Given the description of an element on the screen output the (x, y) to click on. 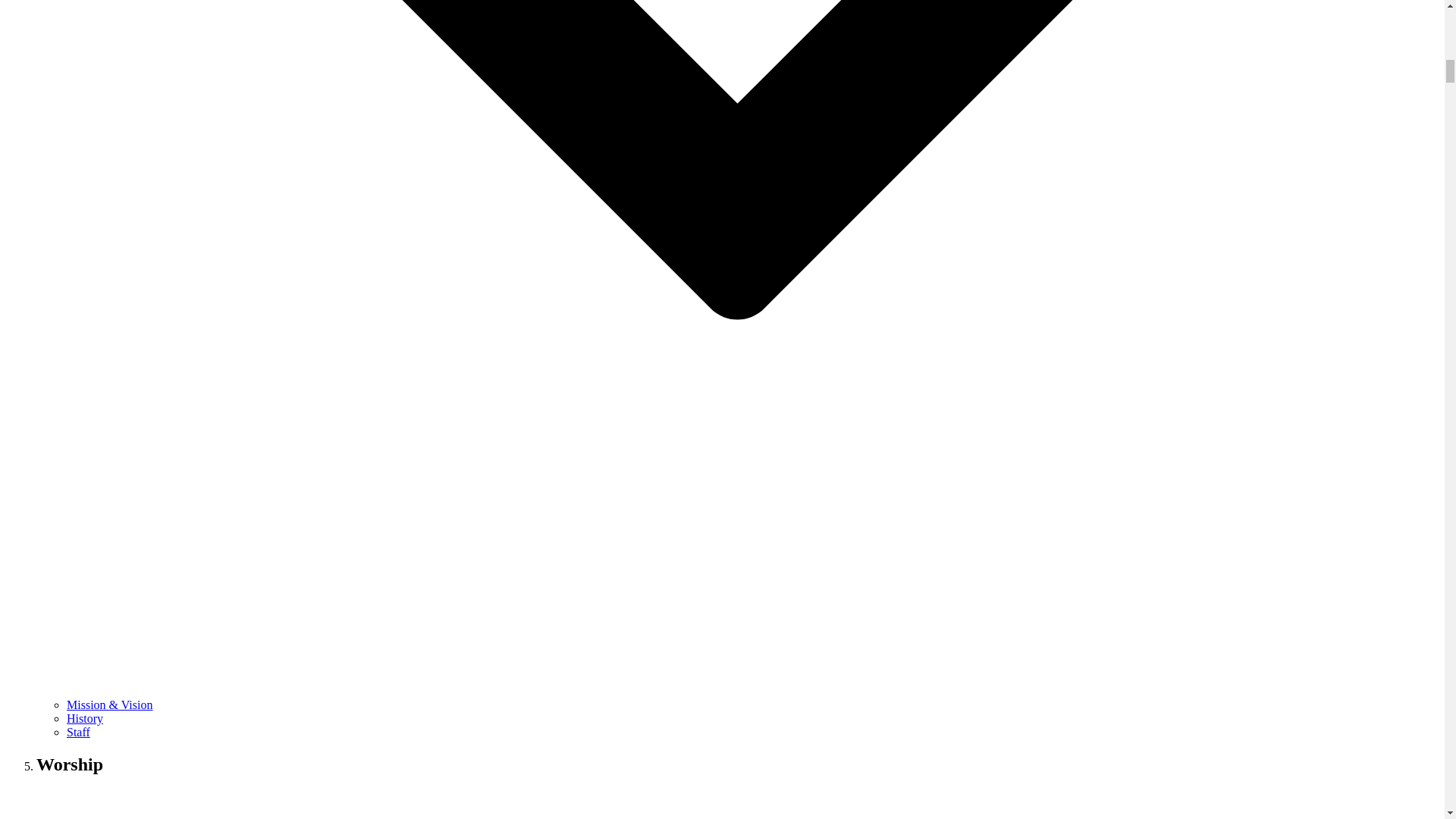
Staff (78, 731)
History (84, 717)
